Given the description of an element on the screen output the (x, y) to click on. 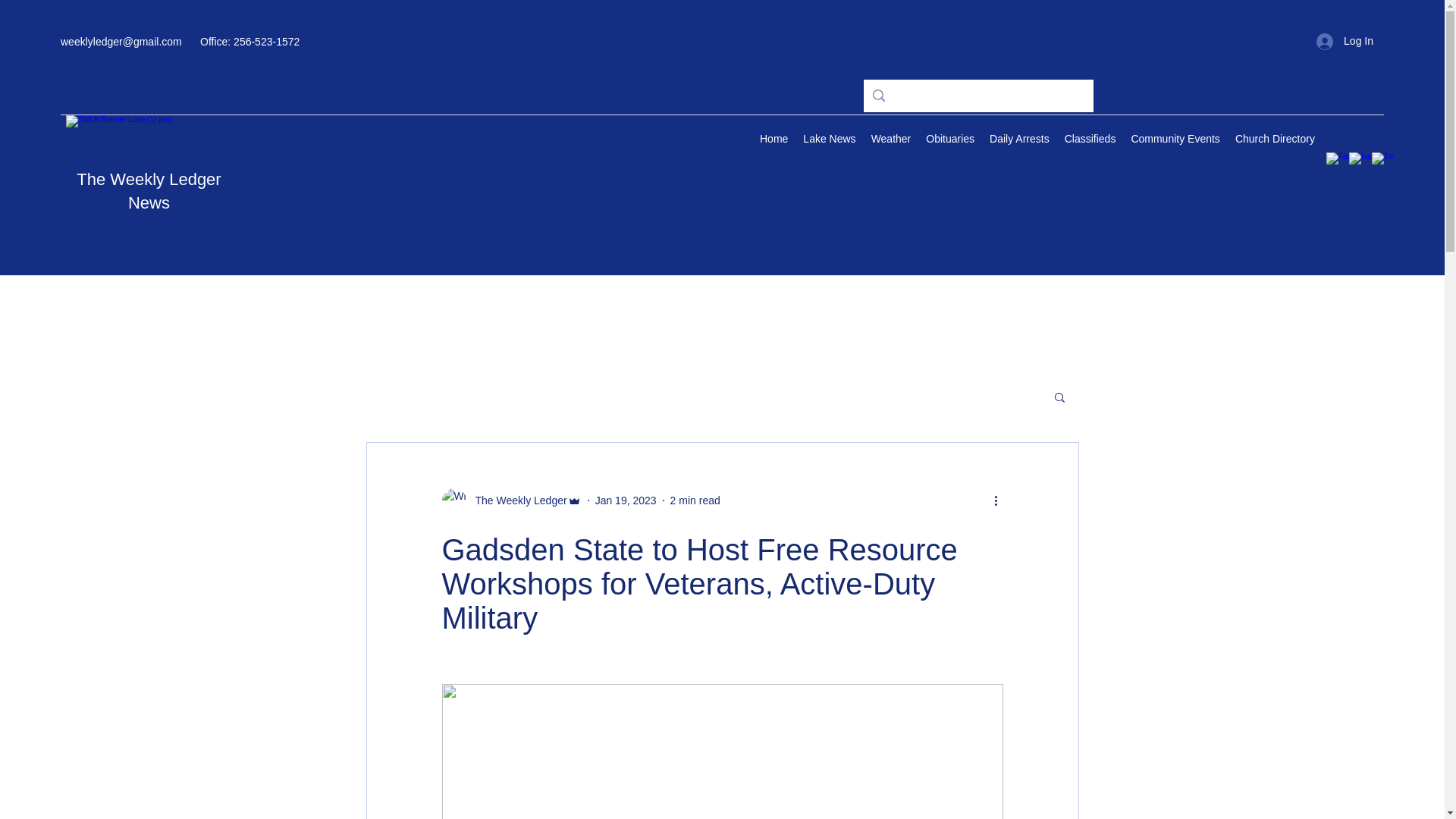
Home (773, 140)
The Weekly Ledger (510, 500)
Classifieds (1090, 140)
Daily Arrests (1019, 140)
Dining Directory (1367, 140)
The Weekly Ledger (515, 500)
The Weekly Ledger News (149, 190)
Jan 19, 2023 (625, 500)
Lake News (828, 140)
Log In (1345, 41)
2 min read (694, 500)
Church Directory (1274, 140)
Weather (890, 140)
Obituaries (949, 140)
Community Events (1174, 140)
